Given the description of an element on the screen output the (x, y) to click on. 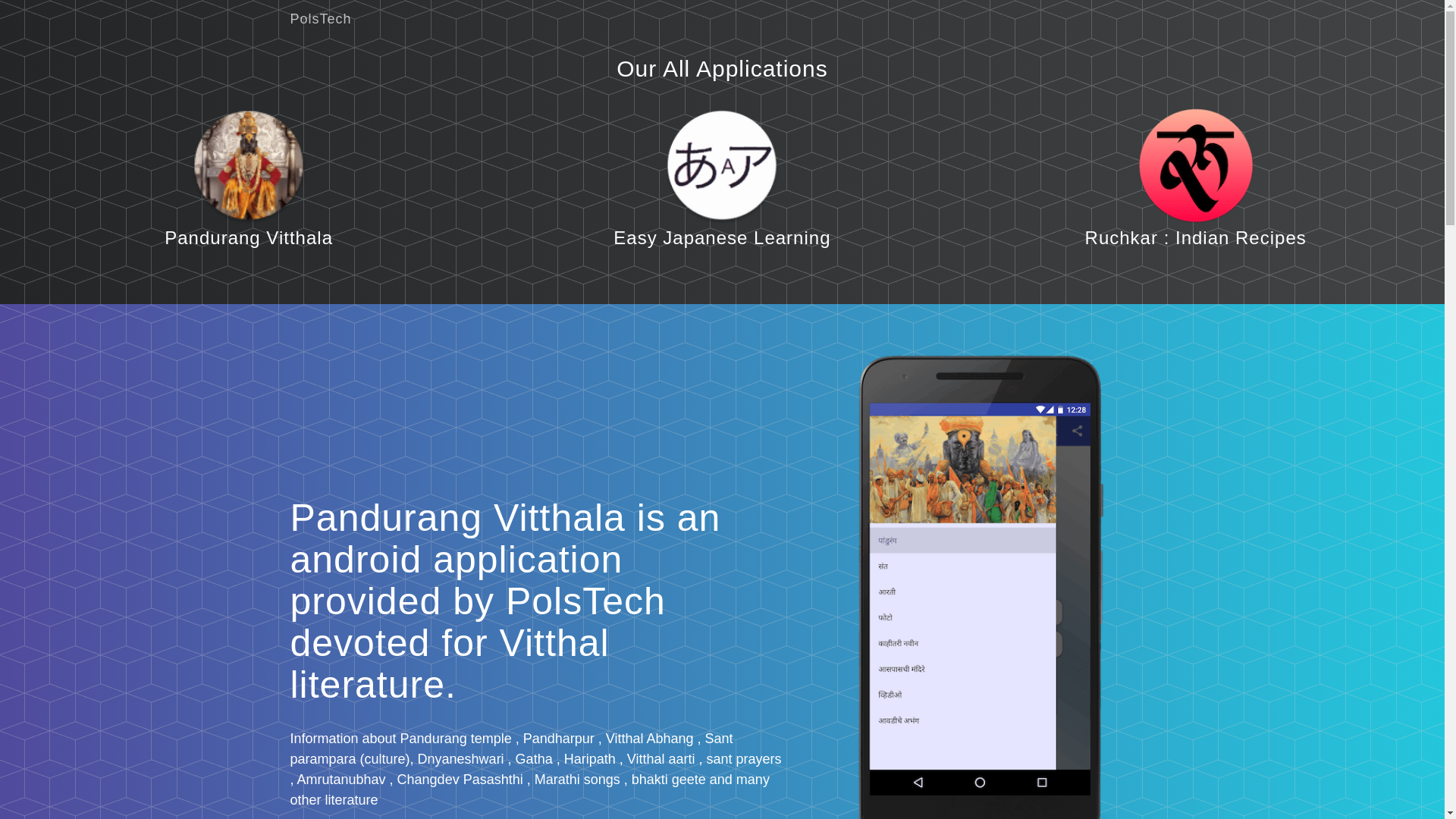
PolsTech (320, 18)
Pandurang Vitthala (248, 237)
Ruchkar : Indian Recipes (1195, 237)
Easy Japanese Learning (720, 237)
PolsTech (320, 18)
